Given the description of an element on the screen output the (x, y) to click on. 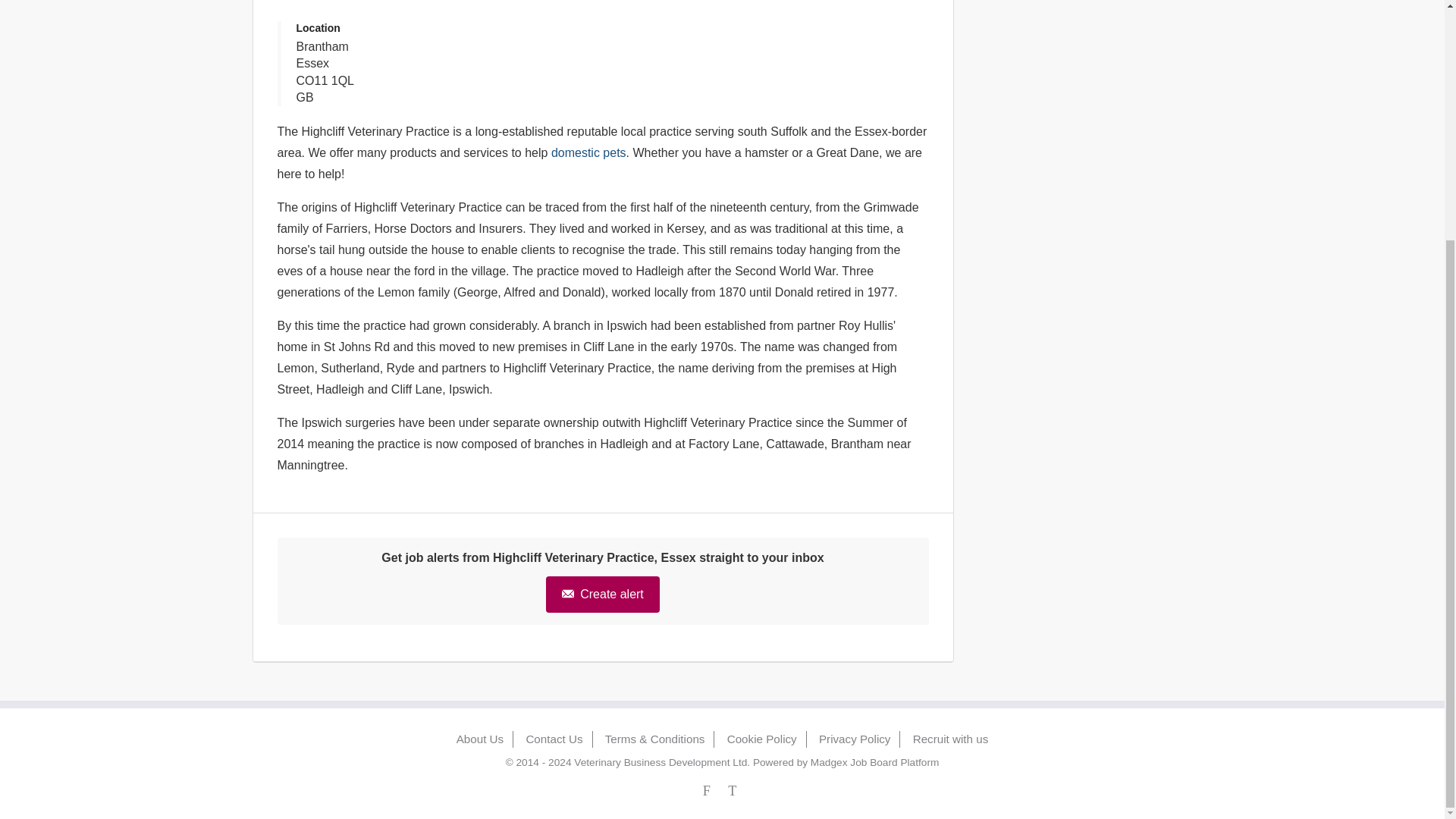
Recruit with us (950, 738)
Contact Us (553, 738)
Cookie Policy (761, 738)
domestic pets (588, 152)
About Us (480, 738)
Privacy Policy (854, 738)
Create alert (602, 594)
